Given the description of an element on the screen output the (x, y) to click on. 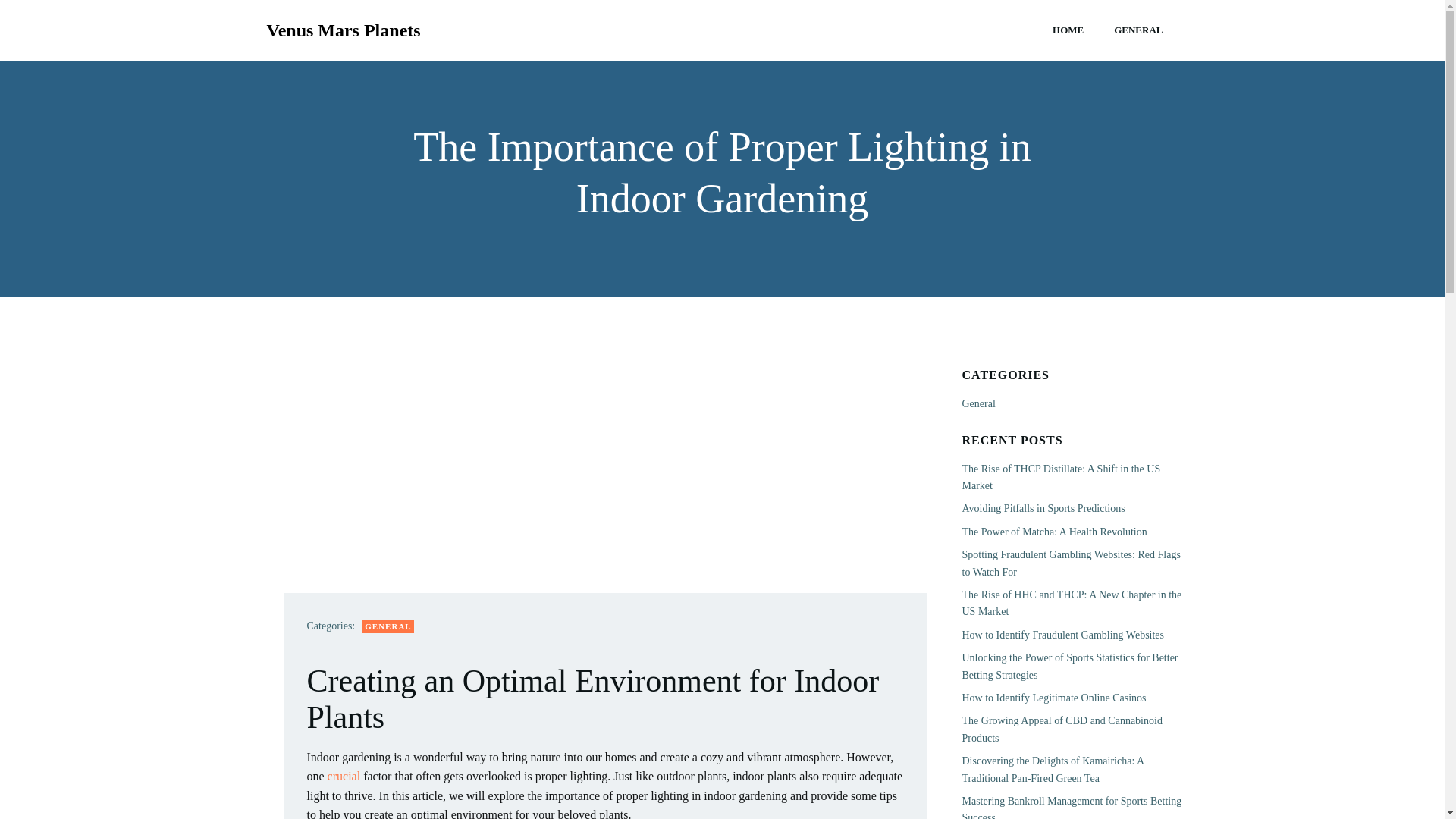
How to Identify Fraudulent Gambling Websites (1061, 634)
The Growing Appeal of CBD and Cannabinoid Products (1060, 728)
The Rise of THCP Distillate: A Shift in the US Market (1060, 477)
GENERAL (387, 626)
The Power of Matcha: A Health Revolution (1053, 531)
GENERAL (1137, 29)
General (977, 403)
The Rise of HHC and THCP: A New Chapter in the US Market (1070, 602)
crucial (344, 775)
Venus Mars Planets (343, 30)
Mastering Bankroll Management for Sports Betting Success (1070, 807)
Avoiding Pitfalls in Sports Predictions (1042, 508)
How to Identify Legitimate Online Casinos (1052, 697)
